Given the description of an element on the screen output the (x, y) to click on. 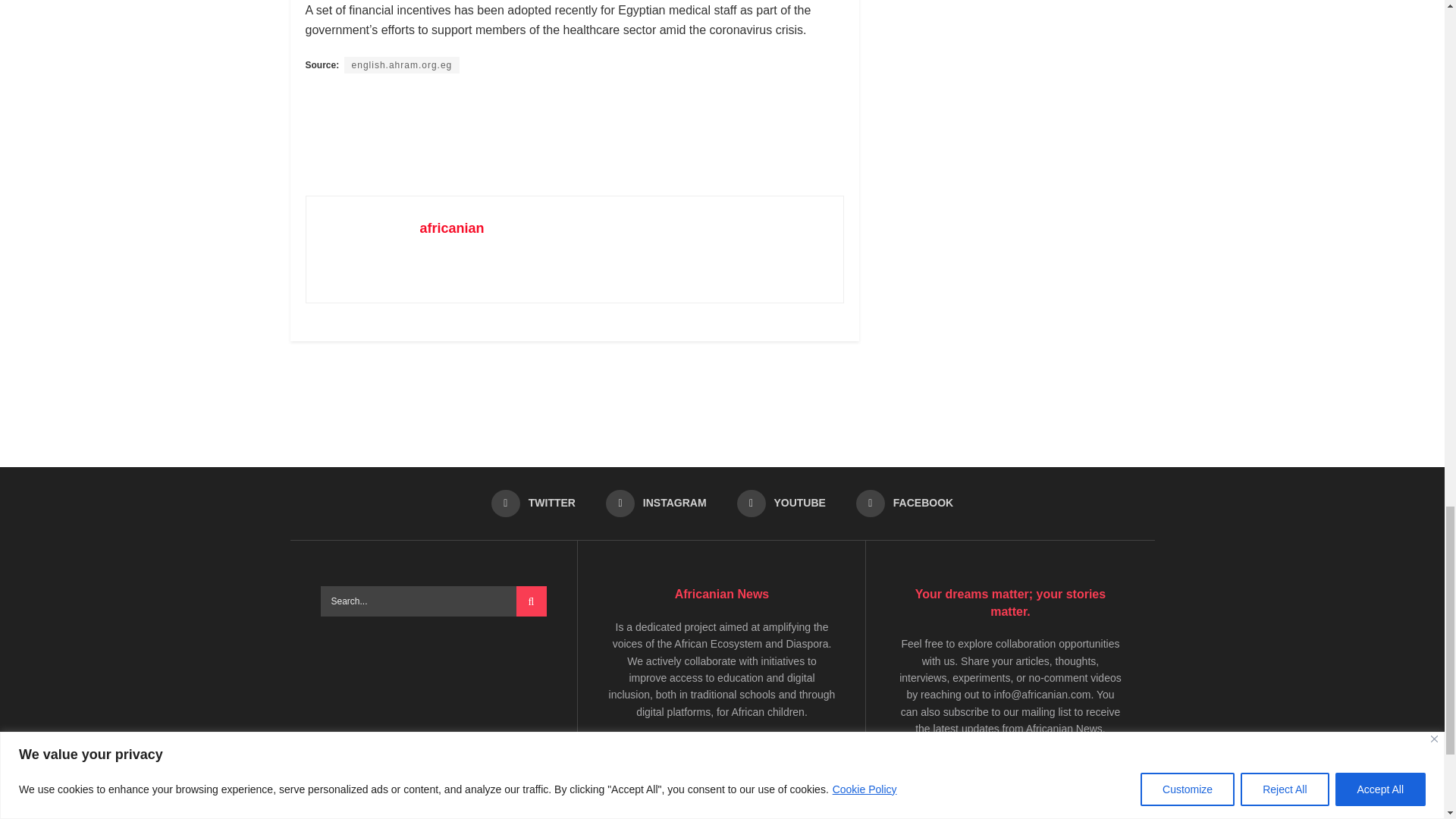
Advertisement (722, 397)
Advertisement (580, 133)
Subscribe (937, 808)
